Given the description of an element on the screen output the (x, y) to click on. 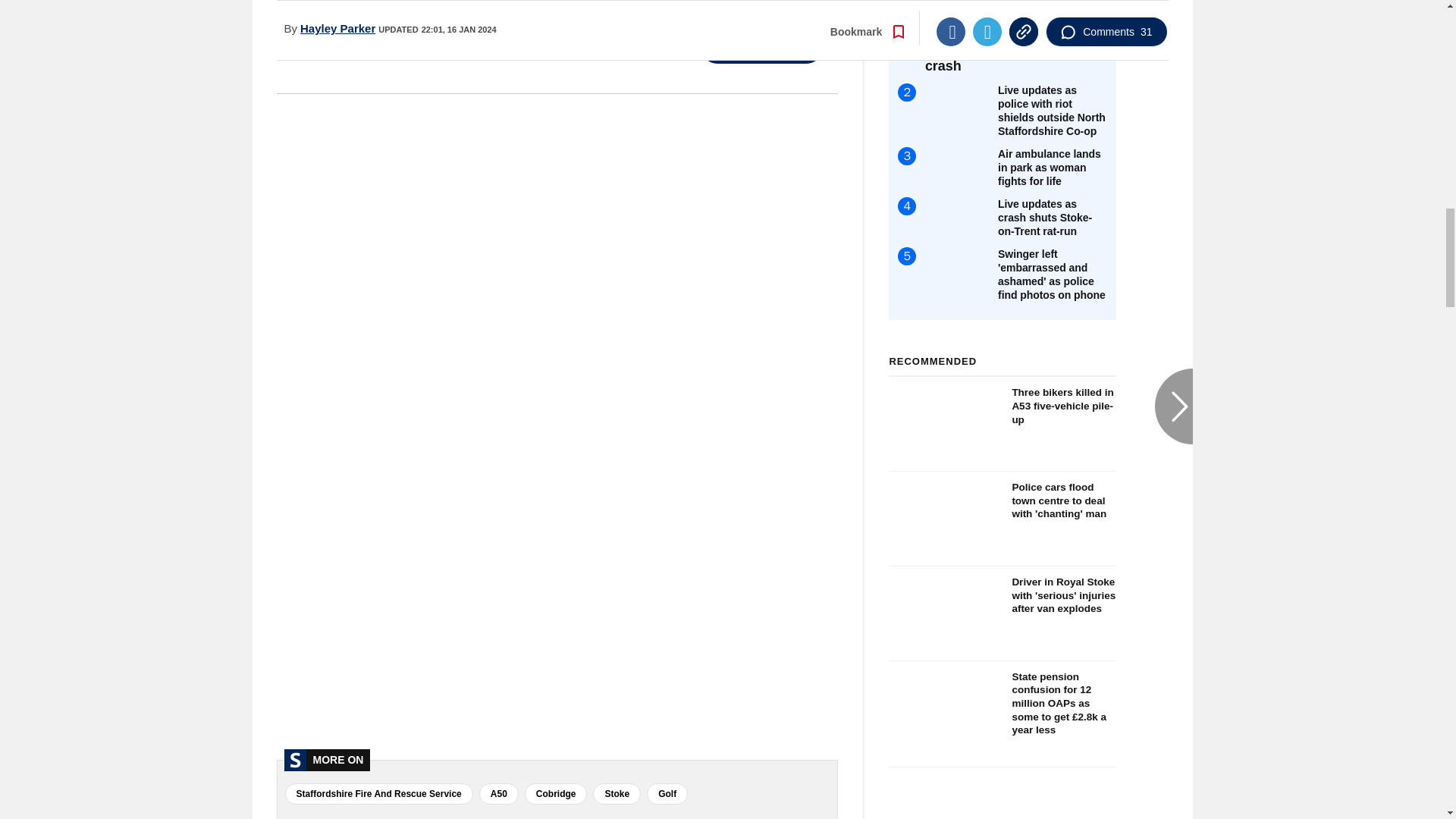
Twitter (610, 46)
Facebook (561, 46)
Comments (761, 49)
